Given the description of an element on the screen output the (x, y) to click on. 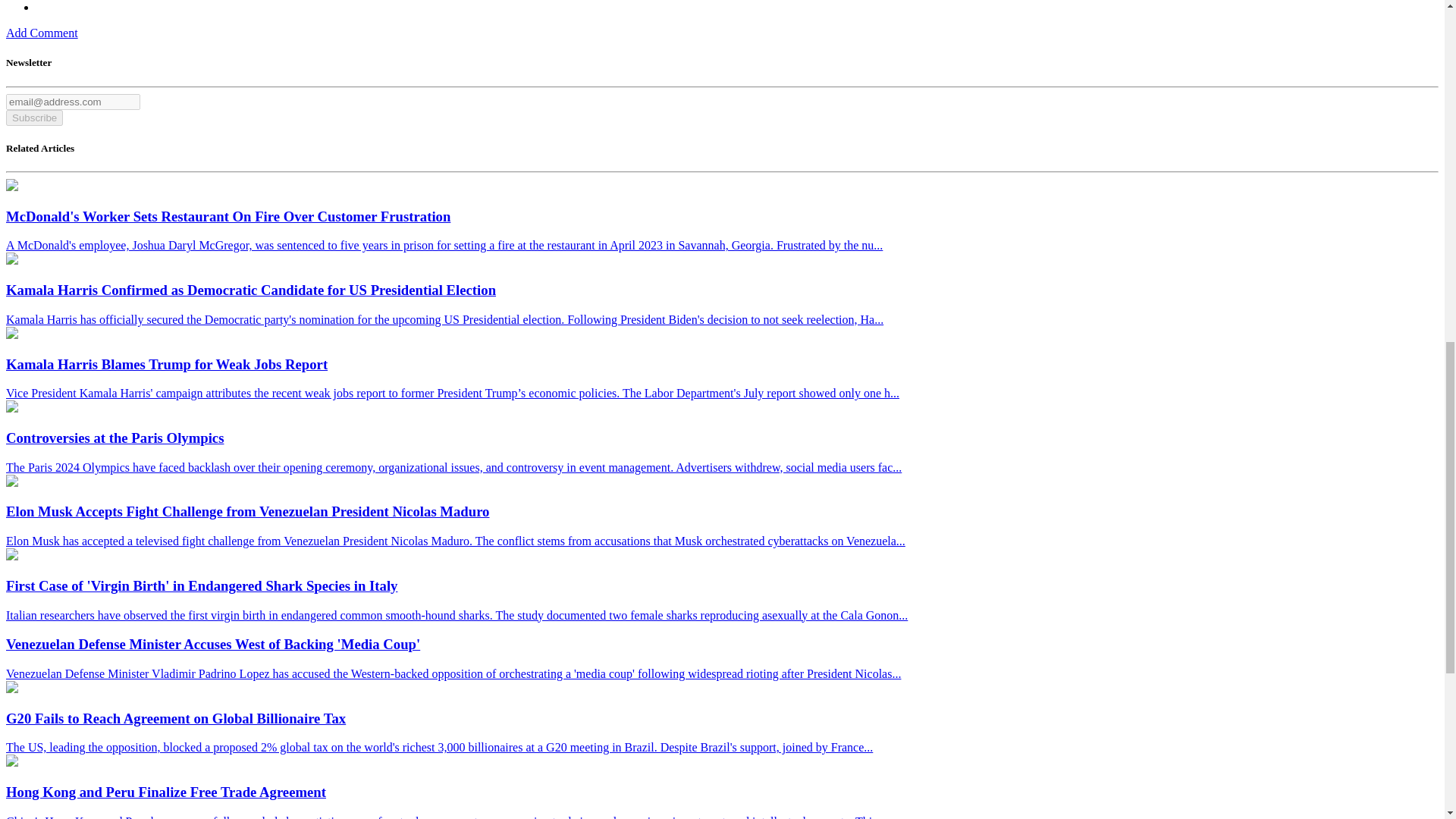
Subscribe (33, 117)
Add Comment (41, 32)
Hong Kong and Peru Finalize Free Trade Agreement (11, 762)
Kamala Harris Blames Trump for Weak Jobs Report (11, 334)
G20 Fails to Reach Agreement on Global Billionaire Tax (11, 688)
Controversies at the Paris Olympics (11, 408)
